Given the description of an element on the screen output the (x, y) to click on. 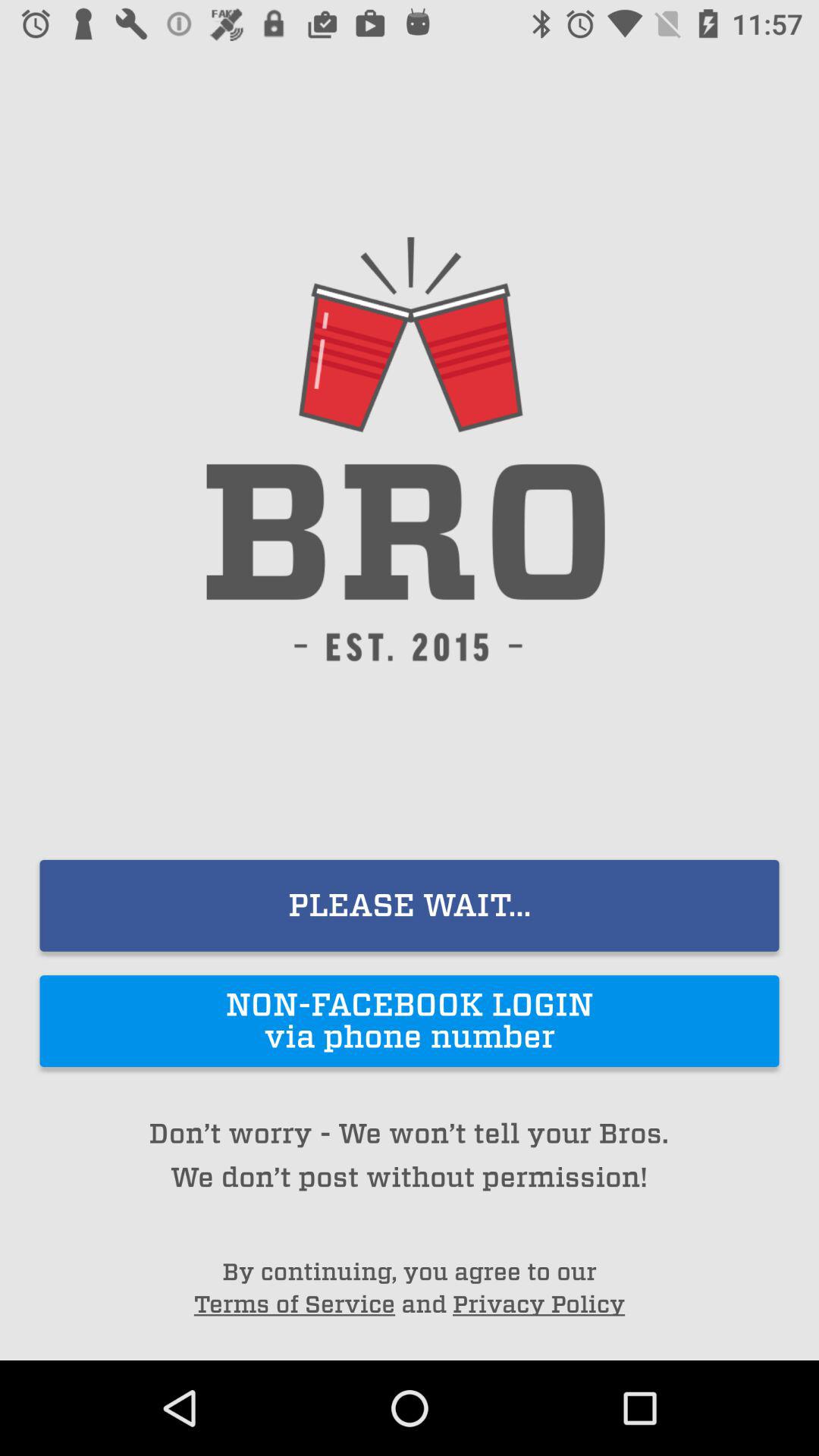
jump to non facebook login (409, 1020)
